Given the description of an element on the screen output the (x, y) to click on. 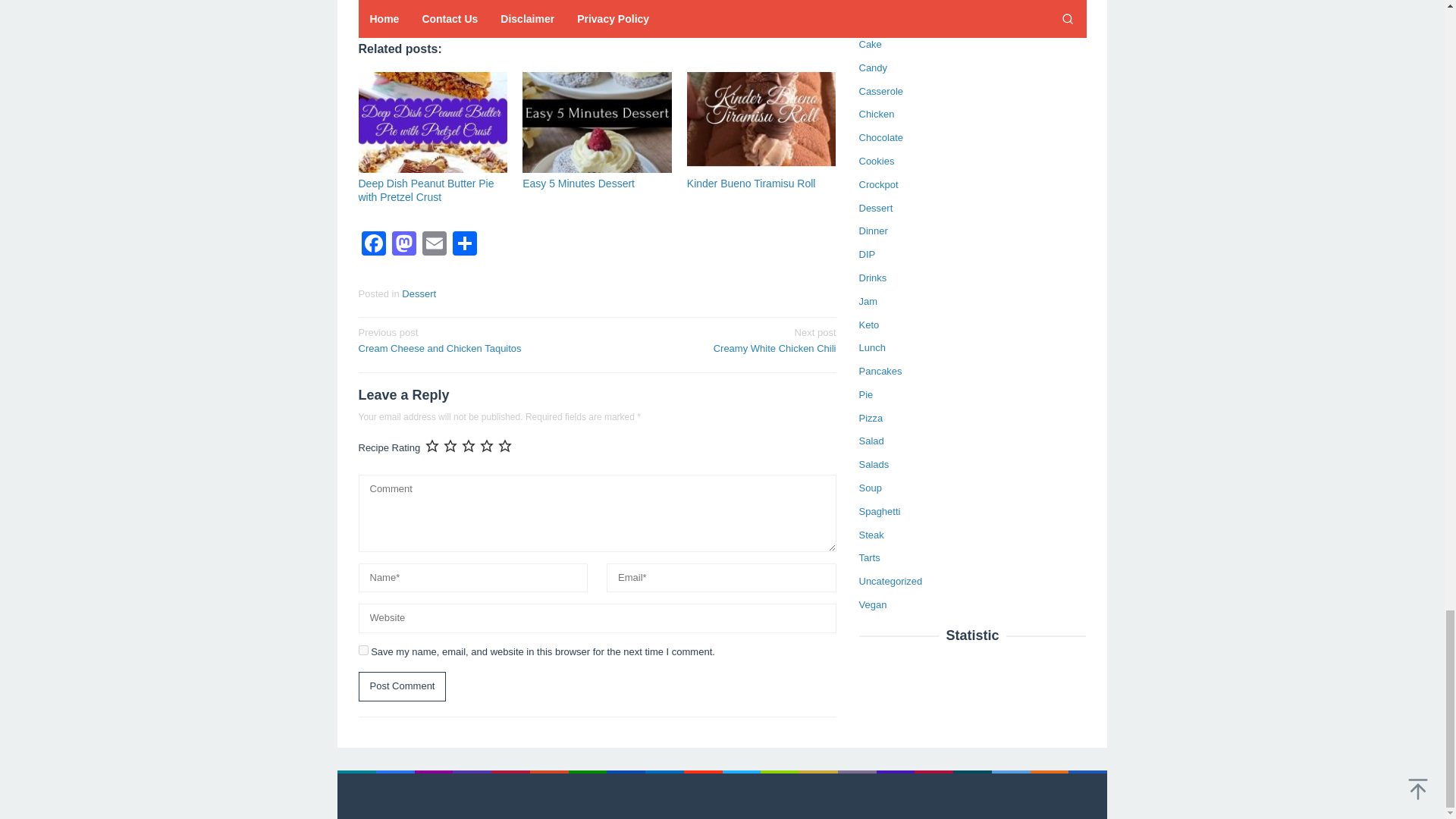
Post Comment (401, 686)
Mastodon (403, 244)
Tweet this (396, 7)
yes (363, 650)
Kinder Bueno Tiramisu Roll (751, 183)
Post Comment (401, 686)
Easy 5 Minutes Dessert (578, 183)
Share this (369, 7)
Email (433, 244)
